Given the description of an element on the screen output the (x, y) to click on. 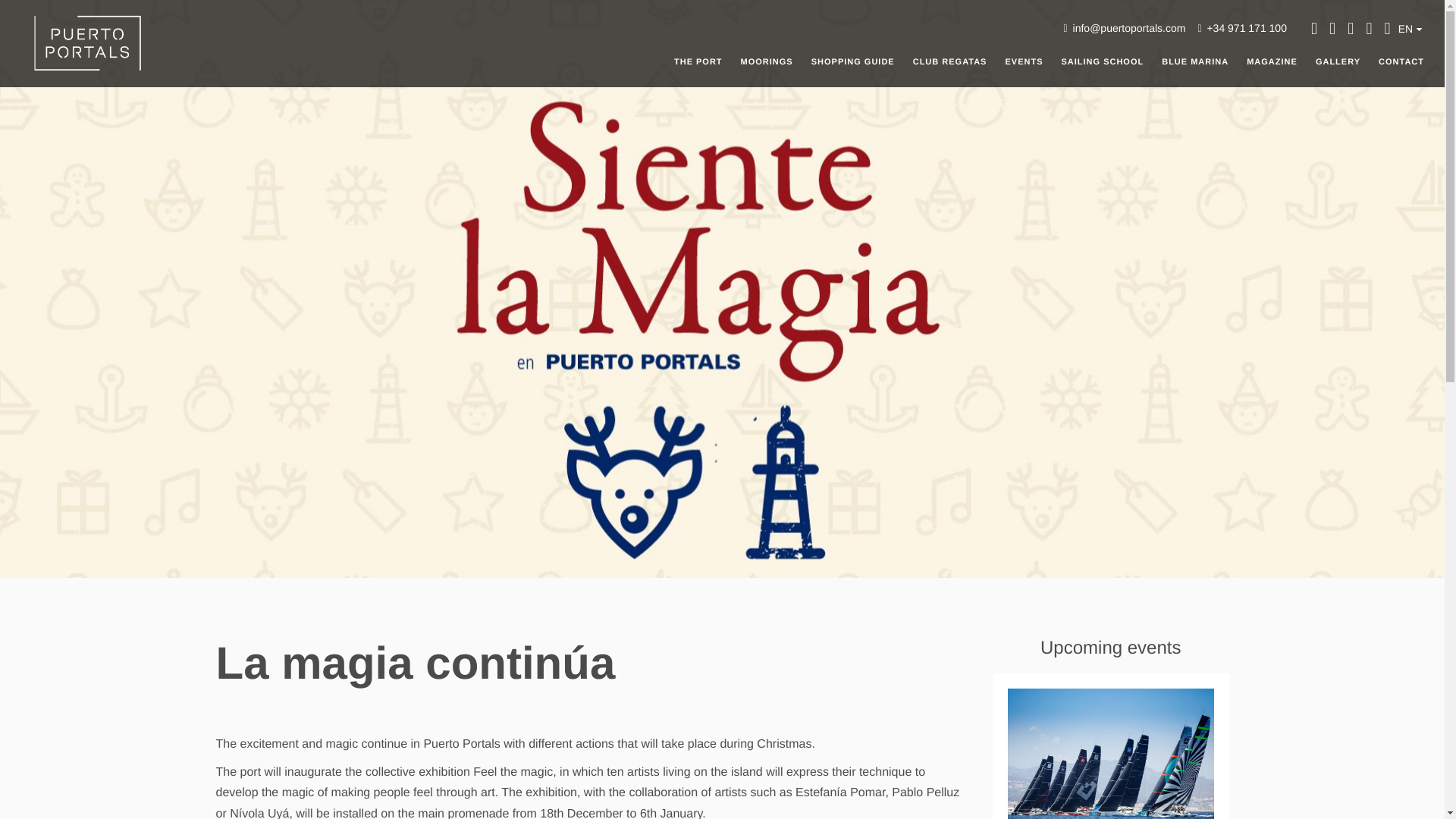
SHOPPING GUIDE (853, 61)
CONTACT (1401, 61)
EN (1409, 29)
MAGAZINE (1271, 61)
SAILING SCHOOL (1102, 61)
THE PORT (698, 61)
GALLERY (1338, 61)
BLUE MARINA (1195, 61)
EVENTS (1023, 61)
CLUB REGATAS (949, 61)
